Given the description of an element on the screen output the (x, y) to click on. 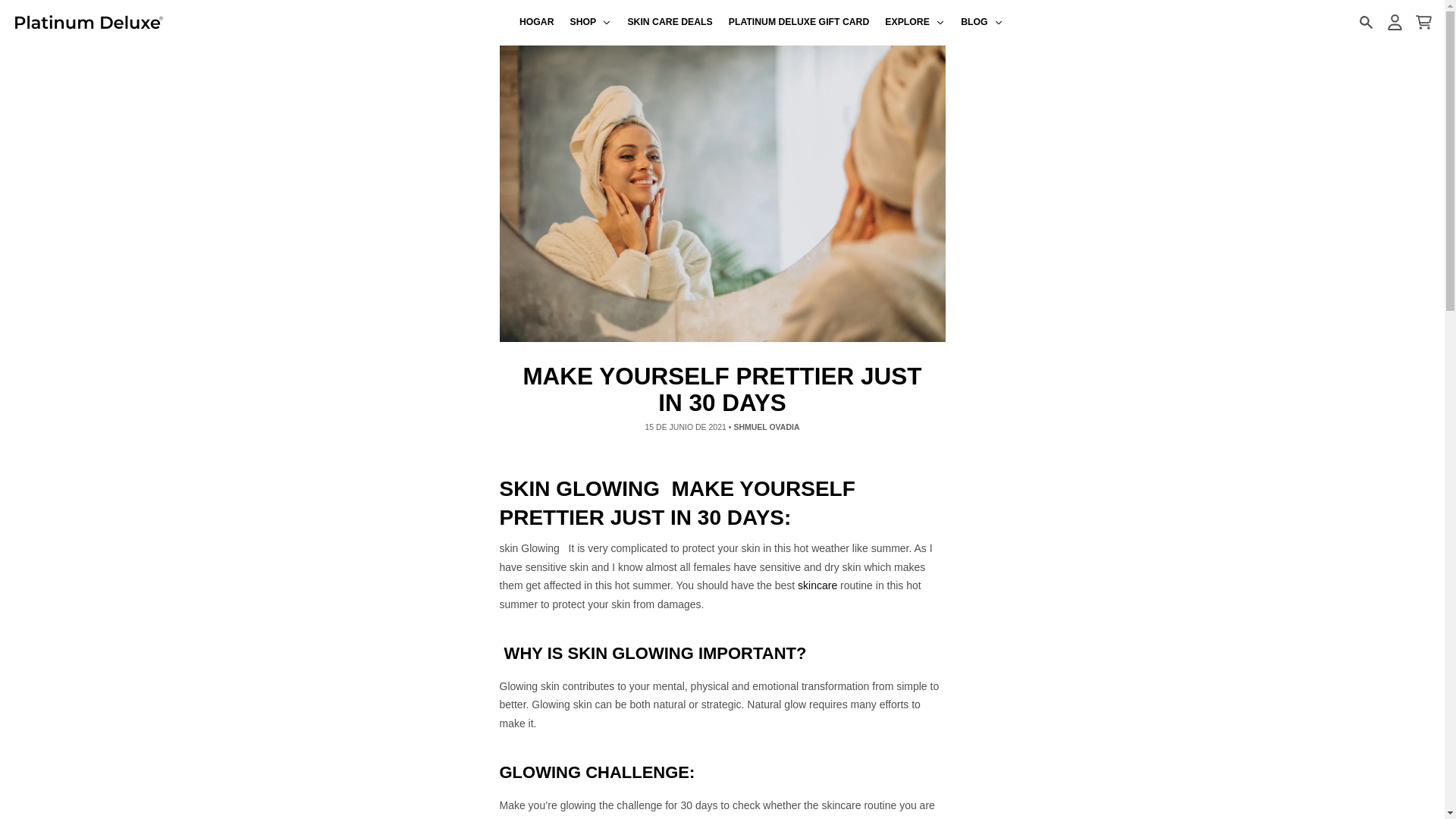
PLATINUM DELUXE GIFT CARD (798, 22)
HOGAR (536, 22)
Buscar (1364, 22)
Carro (1423, 22)
Ir directamente al contenido (18, 7)
SKIN CARE DEALS (670, 22)
Cuenta (1394, 22)
